Given the description of an element on the screen output the (x, y) to click on. 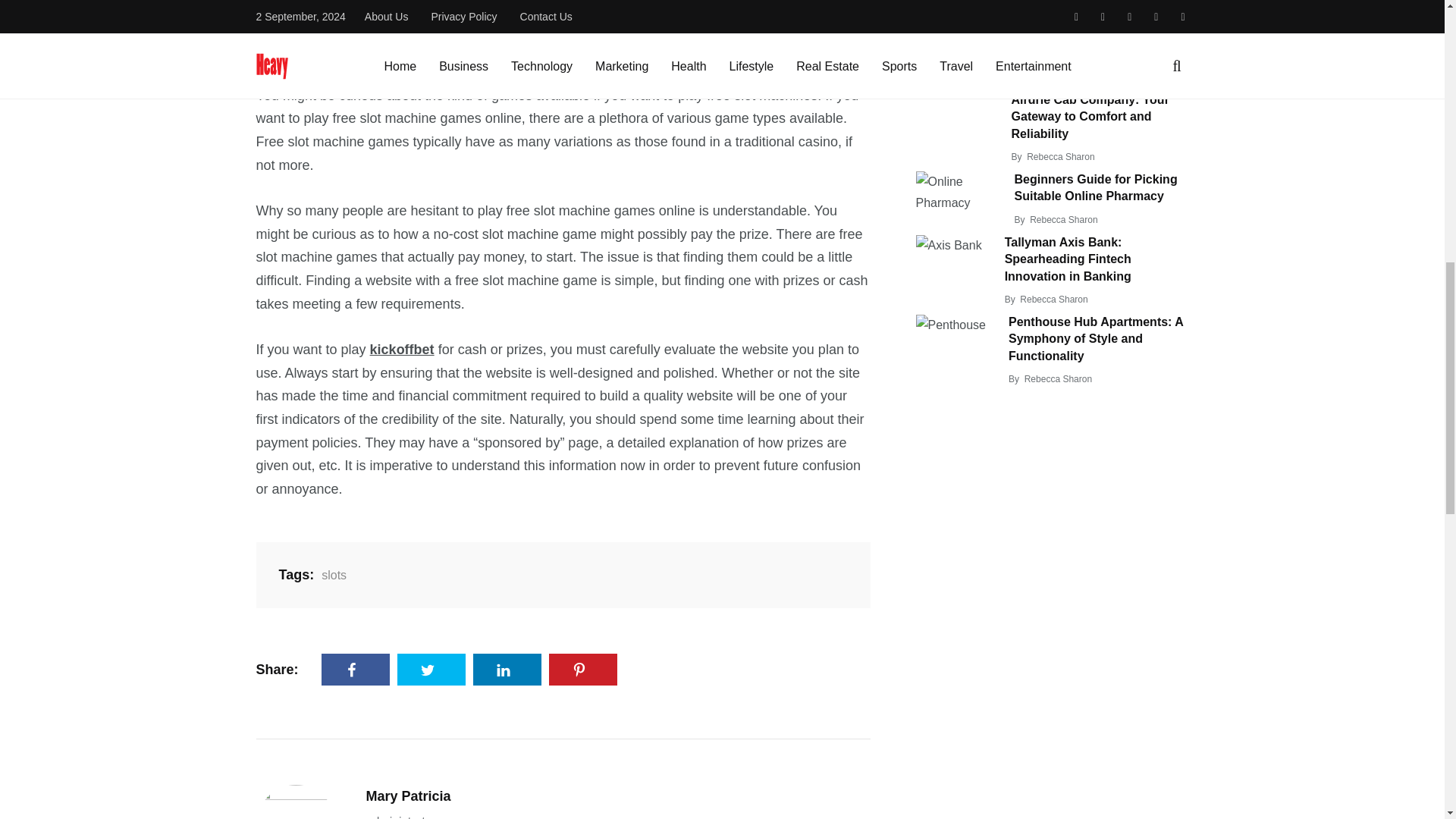
Share on Pinterest (582, 668)
kickoffbet (401, 349)
Share on LinkedIn (507, 668)
Share on Facebook (355, 668)
Share on Twitter (431, 668)
Posts by Mary Patricia (407, 795)
slots (331, 574)
Mary Patricia (407, 795)
